Given the description of an element on the screen output the (x, y) to click on. 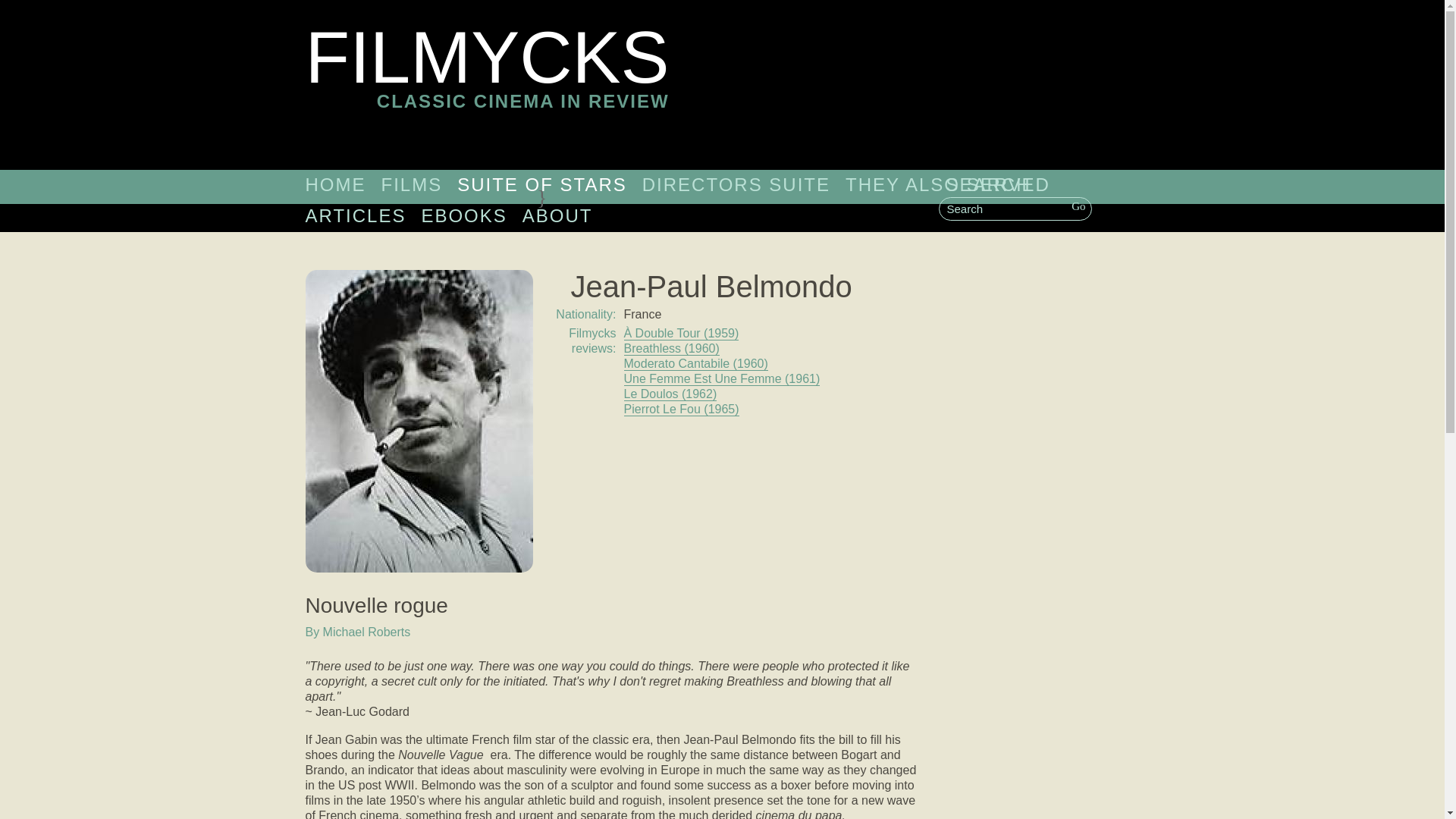
THEY ALSO SERVED (947, 184)
Suite of Stars (542, 184)
They Also Served (947, 184)
EBOOKS (463, 215)
About (486, 84)
Read the review (557, 215)
Articles (695, 364)
Go (355, 215)
DIRECTORS SUITE (1078, 206)
Directors Suite (735, 184)
Read the review (735, 184)
SUITE OF STARS (671, 348)
FILMS (542, 184)
Read the review (411, 184)
